Given the description of an element on the screen output the (x, y) to click on. 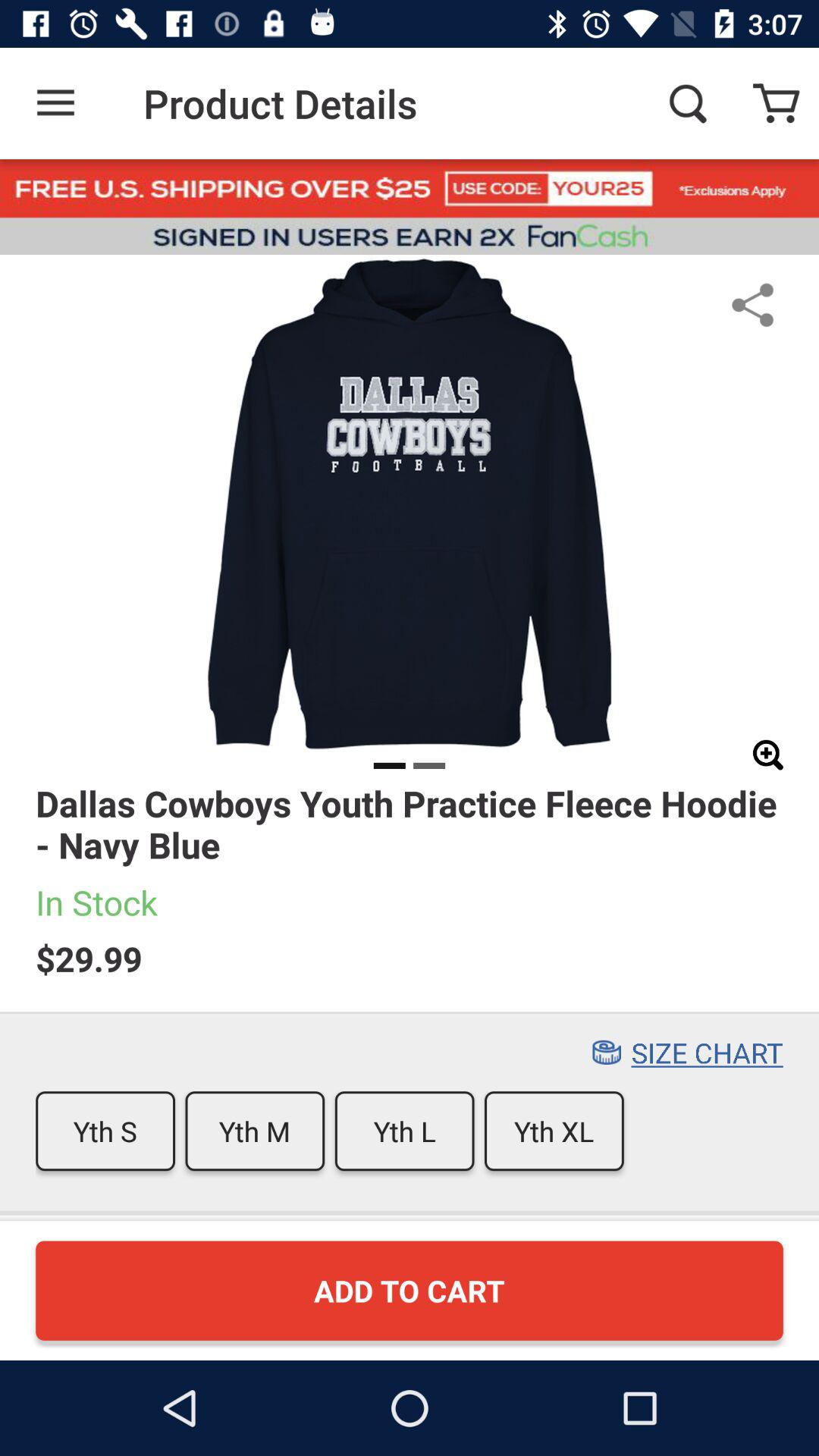
launch icon to the left of the yth m icon (105, 1131)
